Given the description of an element on the screen output the (x, y) to click on. 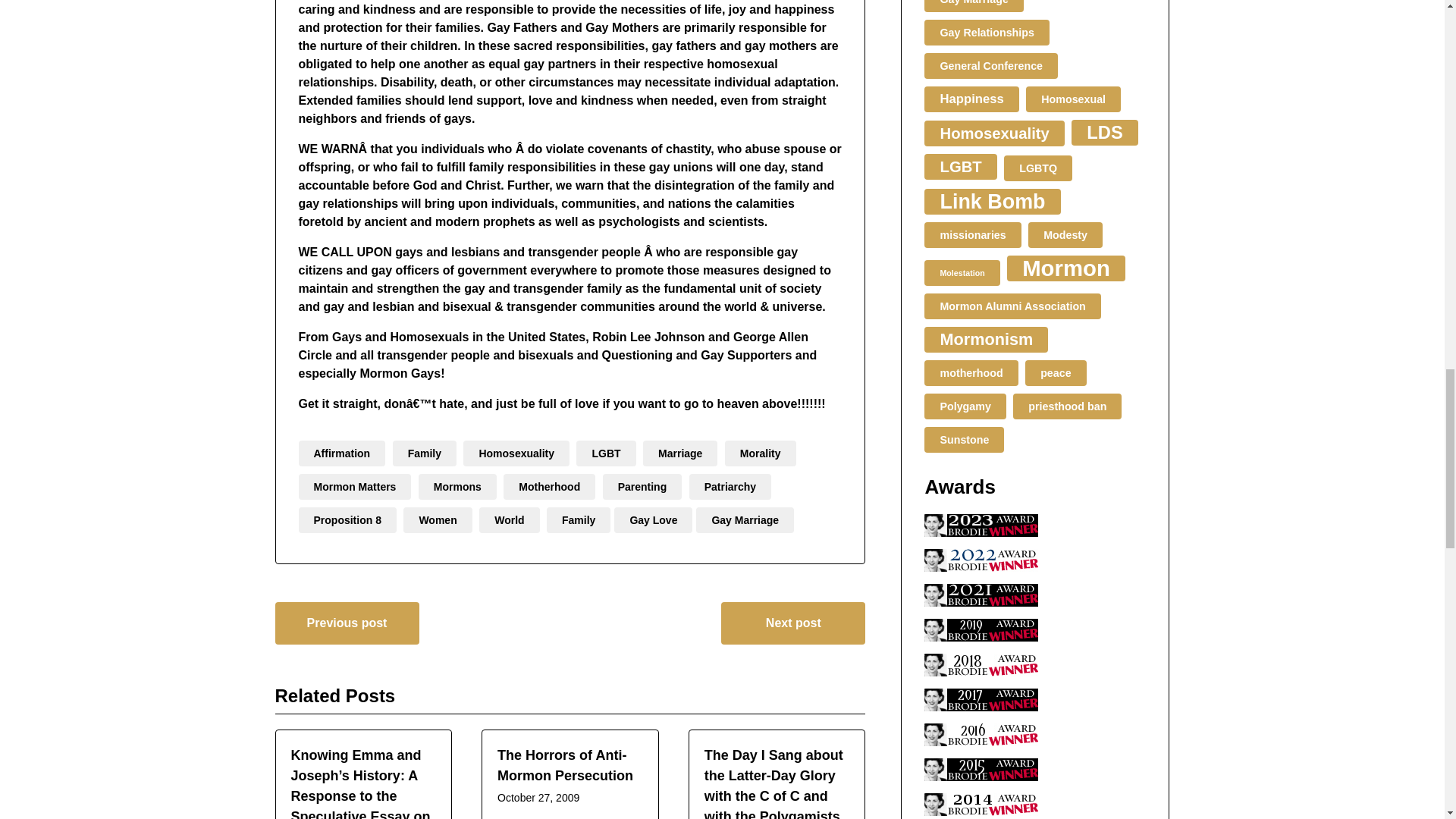
Next post (792, 622)
Affirmation (341, 453)
LGBT (605, 453)
Patriarchy (729, 486)
Motherhood (549, 486)
World (508, 519)
Gay Marriage (744, 519)
Mormon Matters (355, 486)
The Horrors of Anti-Mormon Persecution (565, 764)
Parenting (642, 486)
Morality (760, 453)
Family (425, 453)
Gay Love (653, 519)
Marriage (680, 453)
Proposition 8 (347, 519)
